Given the description of an element on the screen output the (x, y) to click on. 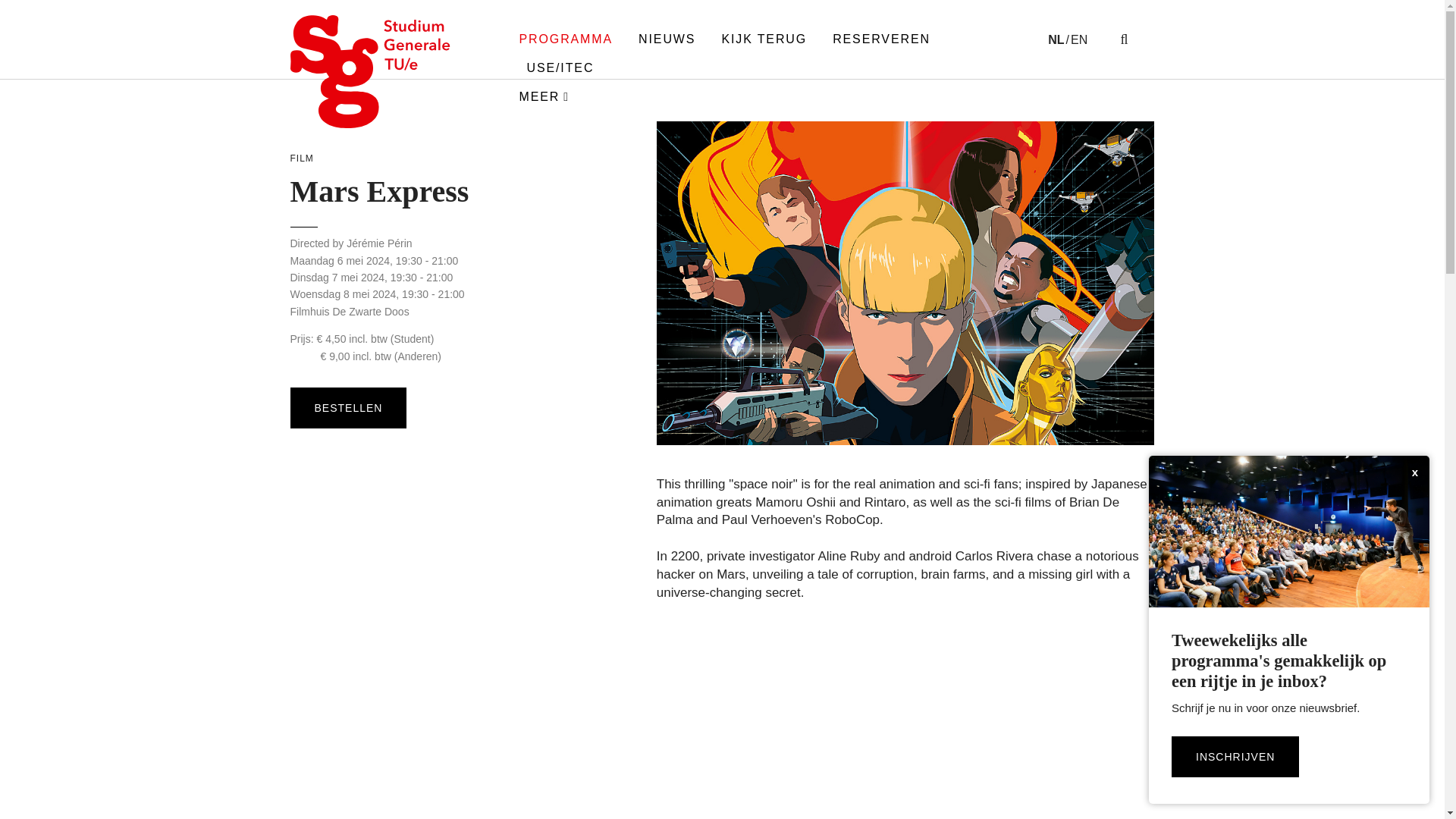
NIEUWS (666, 39)
EN (1080, 39)
RESERVEREN (881, 39)
NL (1059, 39)
KIJK TERUG (764, 39)
PROGRAMMA (565, 39)
Studium Generale (369, 71)
BESTELLEN (347, 407)
